Given the description of an element on the screen output the (x, y) to click on. 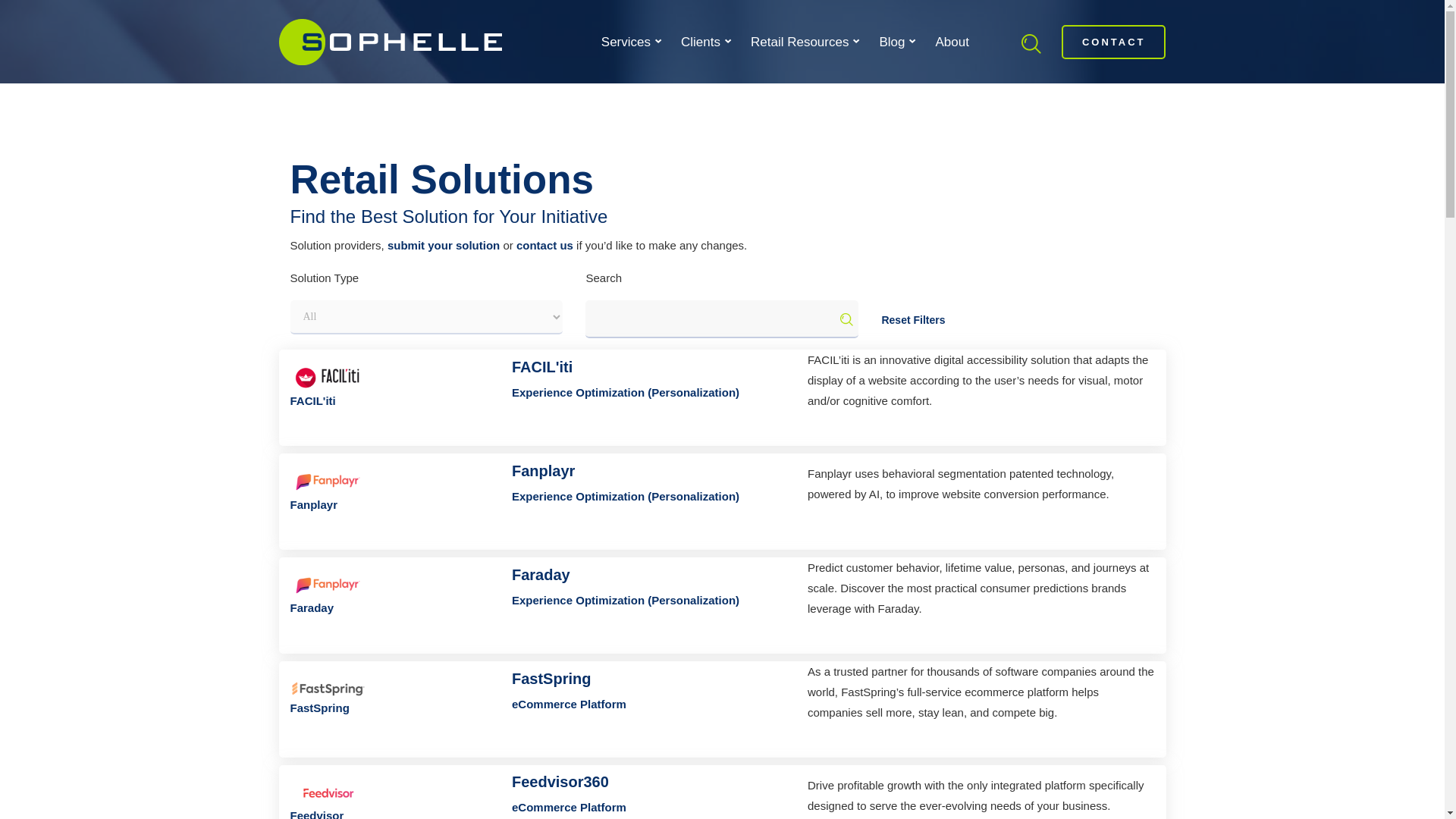
Retail Resources (803, 42)
Services (629, 42)
Clients (704, 42)
